Given the description of an element on the screen output the (x, y) to click on. 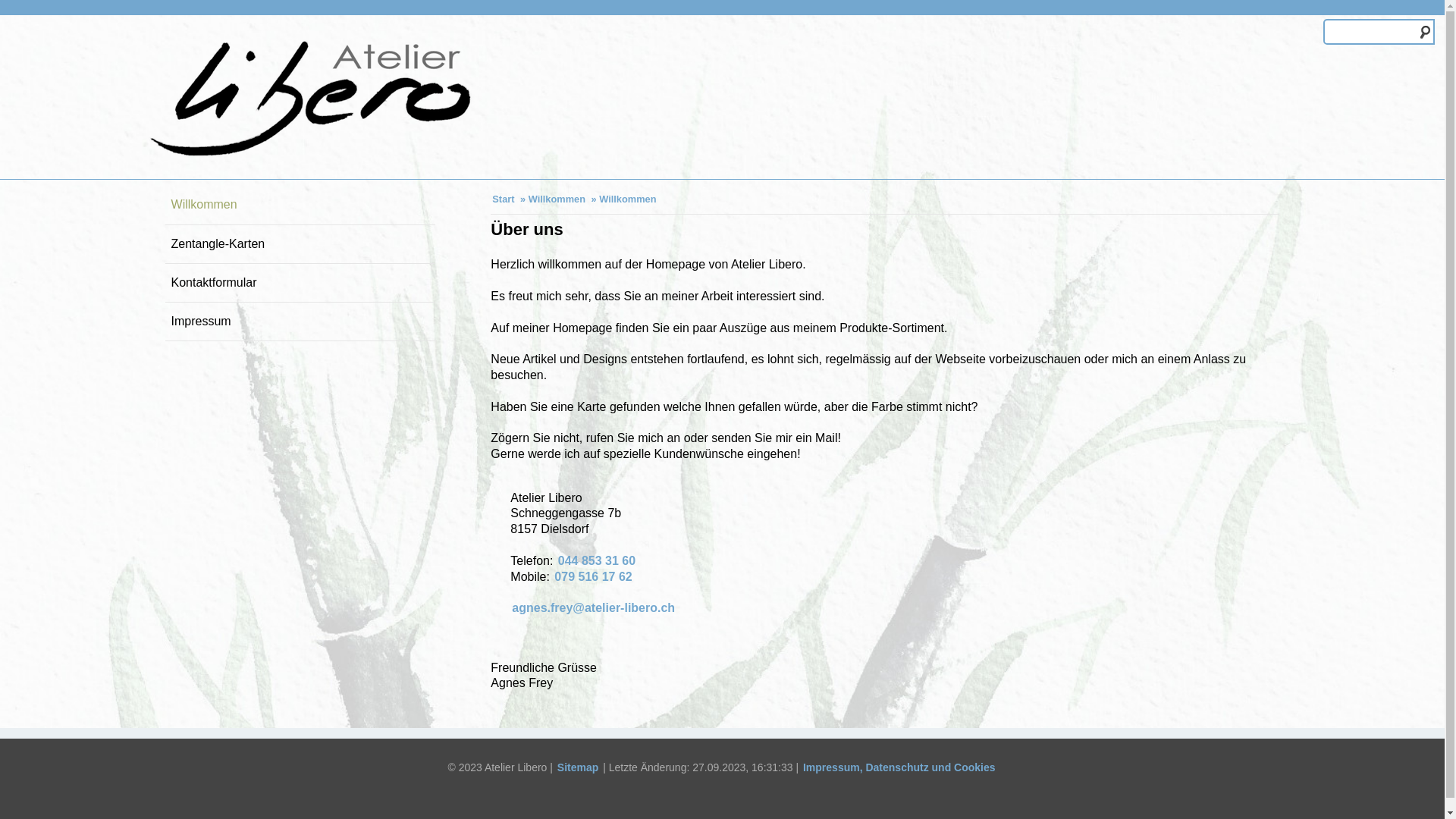
Willkommen Element type: text (300, 204)
044 853 31 60 Element type: text (596, 560)
Sitemap Element type: text (577, 767)
079 516 17 62 Element type: text (592, 576)
Zentangle-Karten Element type: text (300, 244)
Impressum Element type: text (300, 321)
Kontaktformular Element type: text (300, 282)
Start Element type: text (502, 198)
agnes.frey@atelier-libero.ch Element type: text (593, 607)
Impressum, Datenschutz und Cookies Element type: text (899, 767)
